Given the description of an element on the screen output the (x, y) to click on. 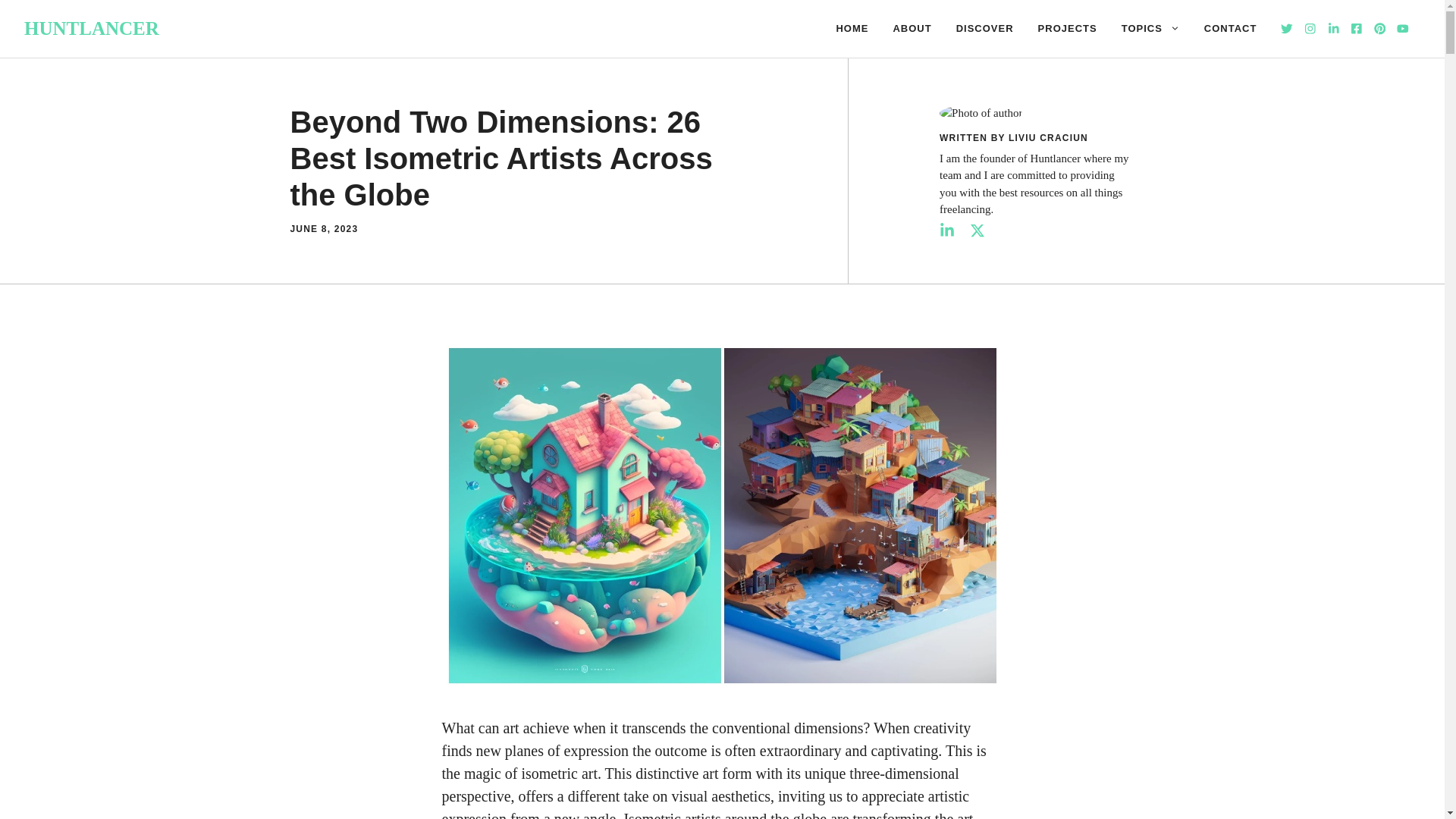
HOME (852, 28)
DISCOVER (984, 28)
ABOUT (911, 28)
HUNTLANCER (91, 28)
CONTACT (1230, 28)
TOPICS (1150, 28)
PROJECTS (1067, 28)
